Given the description of an element on the screen output the (x, y) to click on. 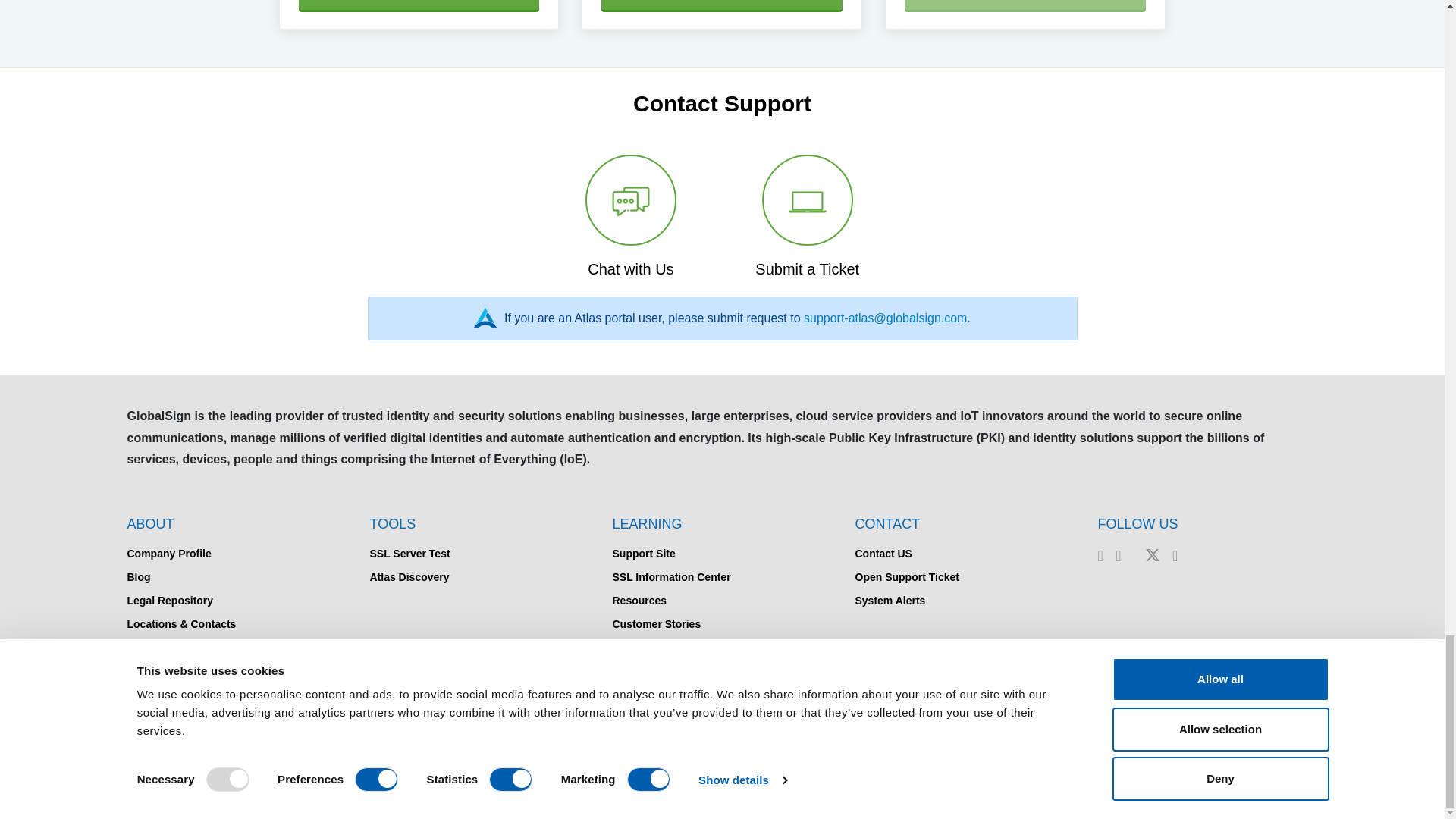
Test Now (1024, 4)
